Given the description of an element on the screen output the (x, y) to click on. 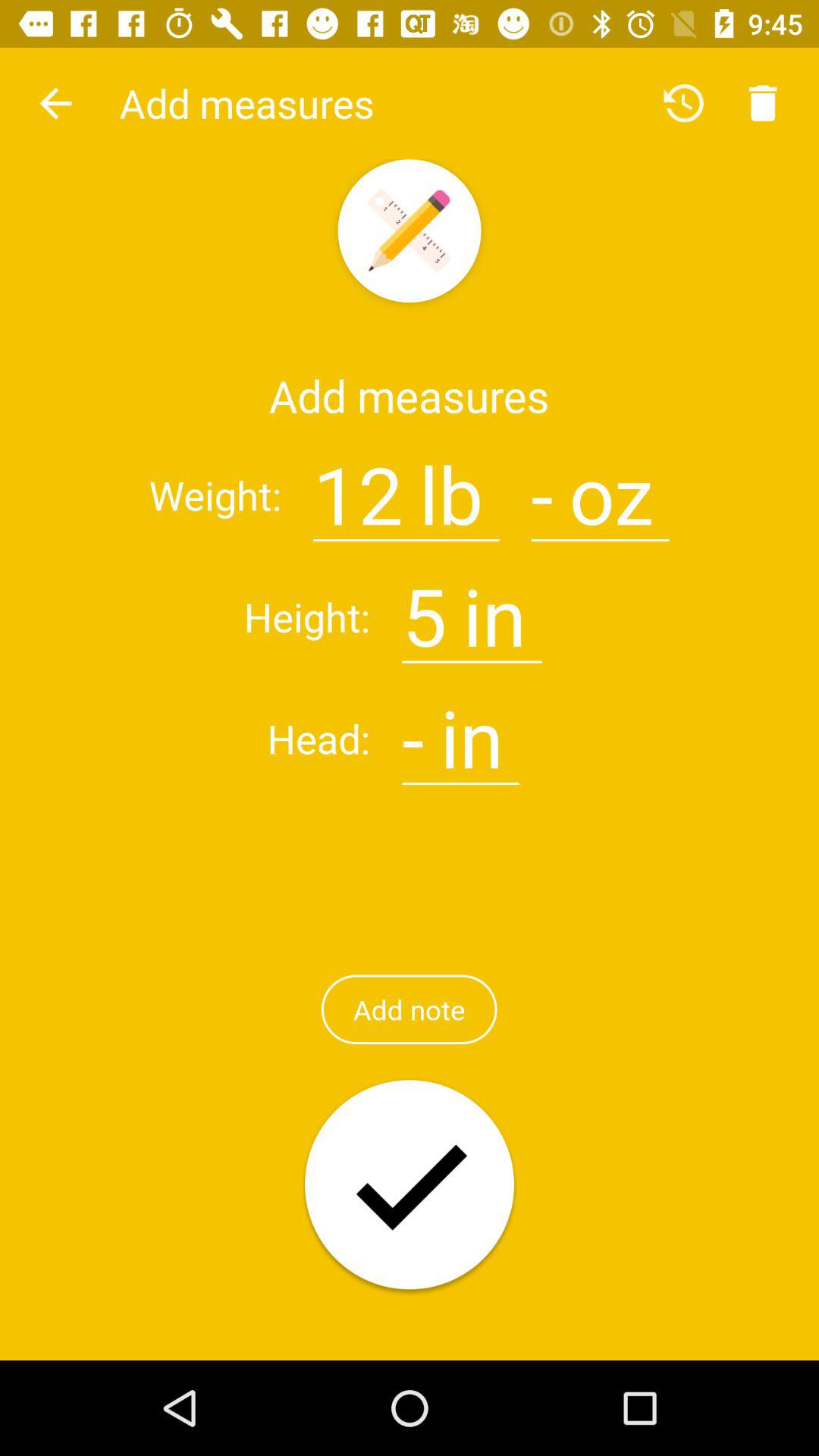
select option (409, 1186)
